Given the description of an element on the screen output the (x, y) to click on. 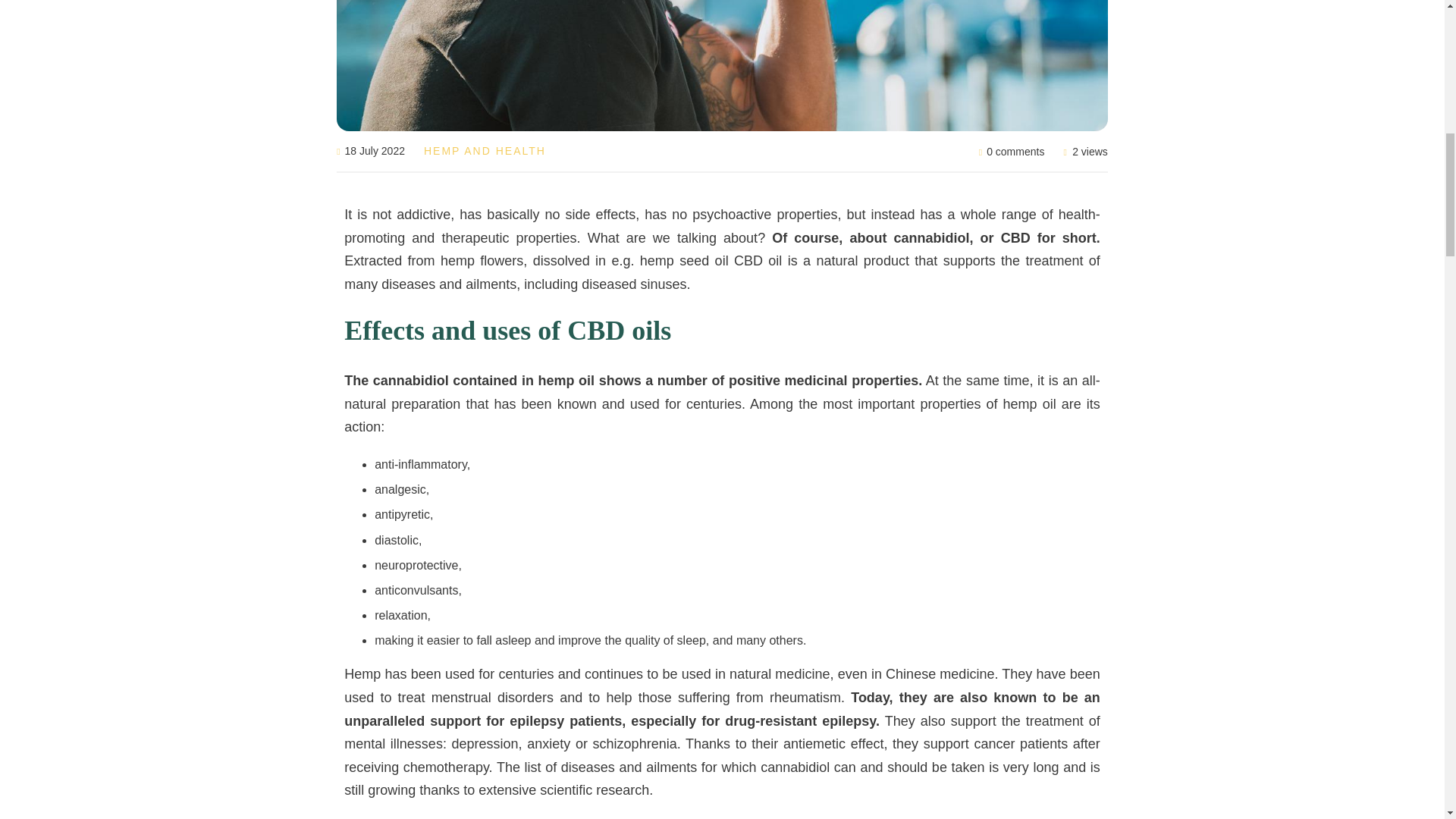
18 July 2022 (370, 151)
CBD oil (757, 260)
HEMP AND HEALTH (484, 150)
